Given the description of an element on the screen output the (x, y) to click on. 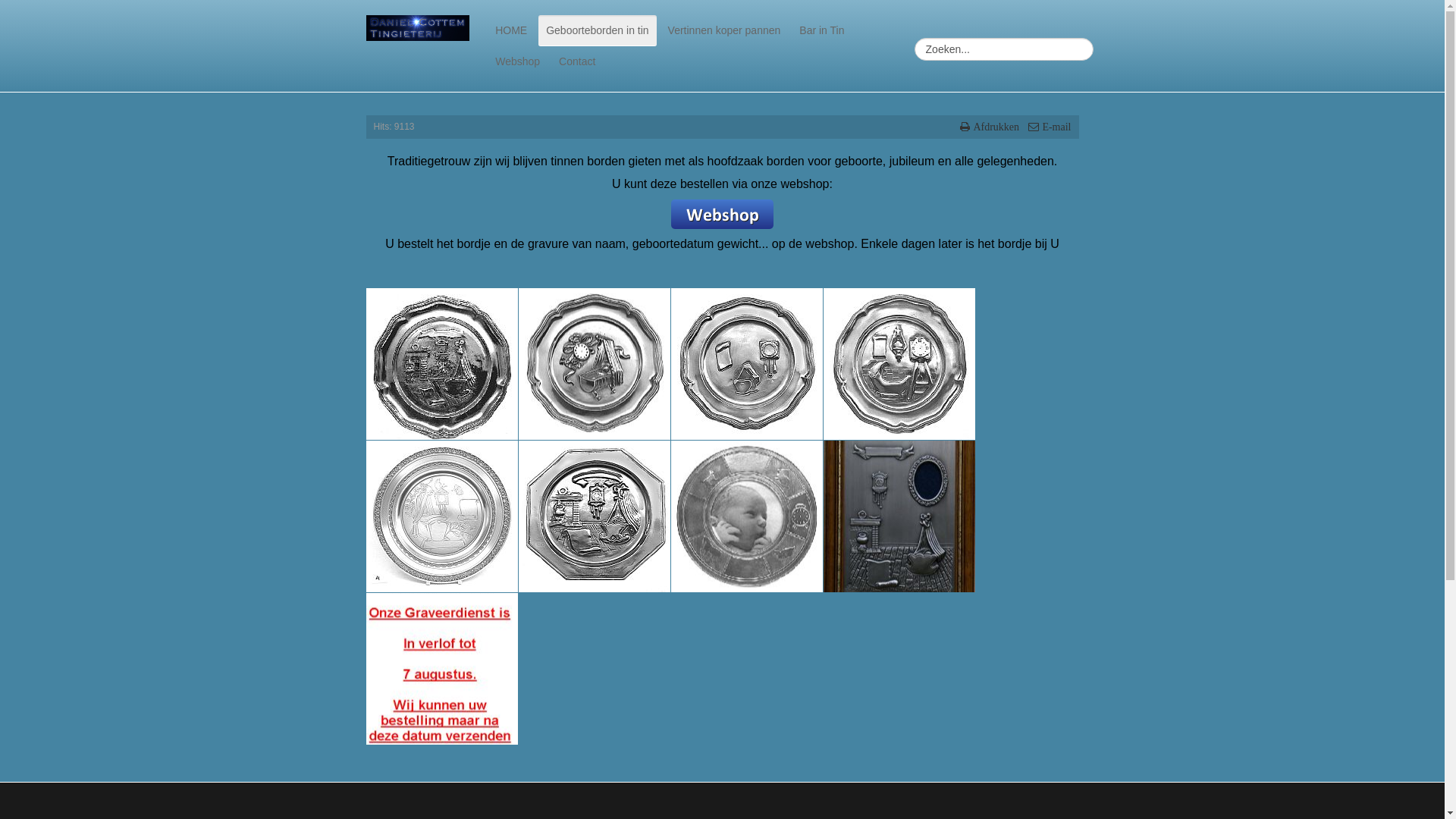
HOME Element type: text (510, 30)
Vertinnen koper pannen Element type: text (724, 30)
Webshop Element type: text (517, 61)
Bar in Tin Element type: text (821, 30)
E-mail Element type: text (1049, 126)
Geboorteborden in tin Element type: text (596, 30)
Contact Element type: text (576, 61)
 Afdrukken  Element type: text (991, 126)
